Given the description of an element on the screen output the (x, y) to click on. 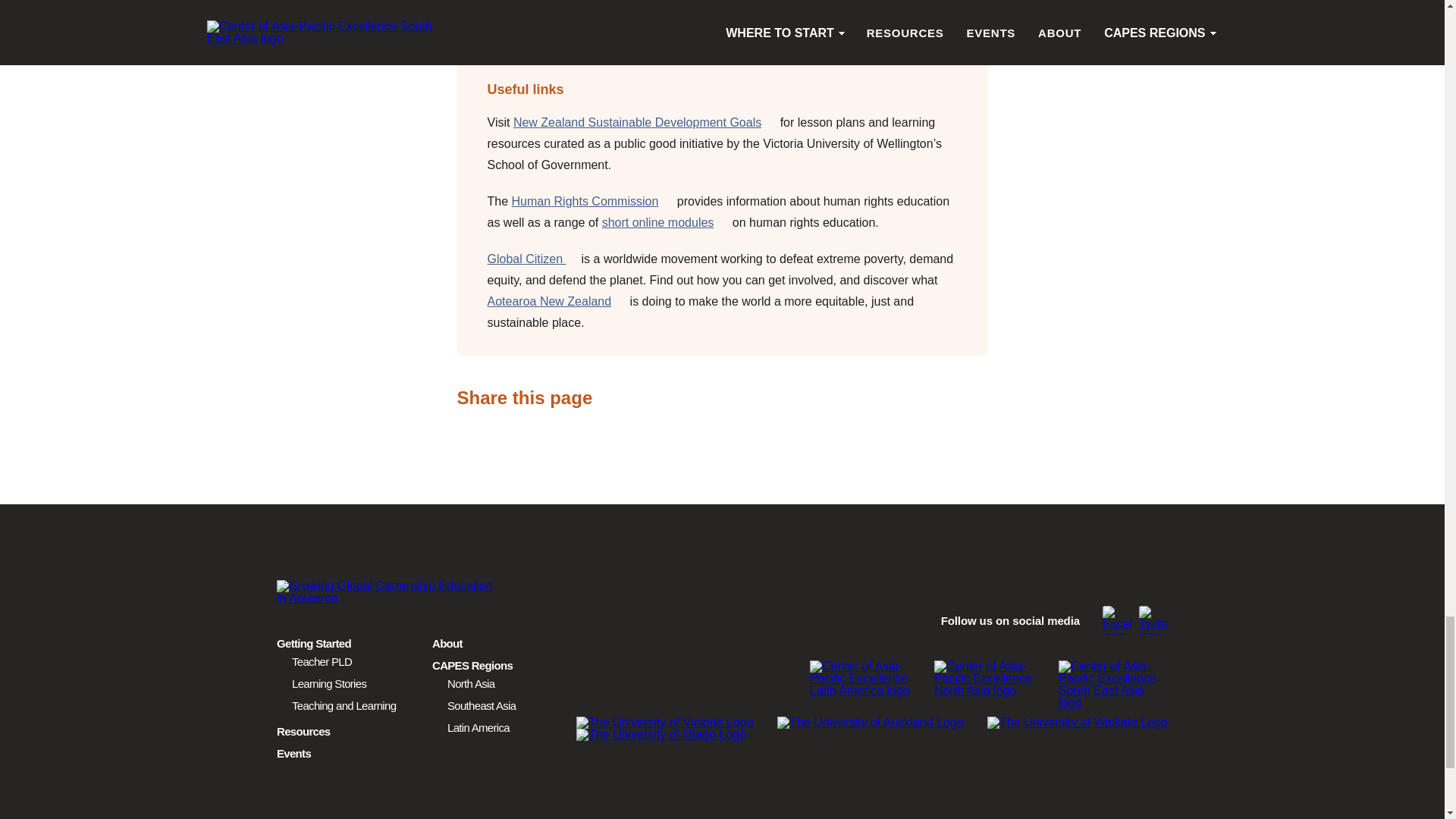
Global Citizen (533, 258)
Growing Global Citizenship Education in Aotearoa (389, 591)
Aotearoa New Zealand (556, 300)
North Asia (470, 683)
About (447, 643)
Visit The University of Otago (660, 734)
Southeast Asia (480, 705)
New Zealand Sustainable Development Goals (644, 122)
Teaching and Learning (344, 705)
Learning Stories (329, 683)
Human Rights Commission (593, 201)
Teacher PLD (322, 661)
Visit The University of Waikato (1077, 722)
Visit The University of Victoria (665, 722)
Events (293, 753)
